Given the description of an element on the screen output the (x, y) to click on. 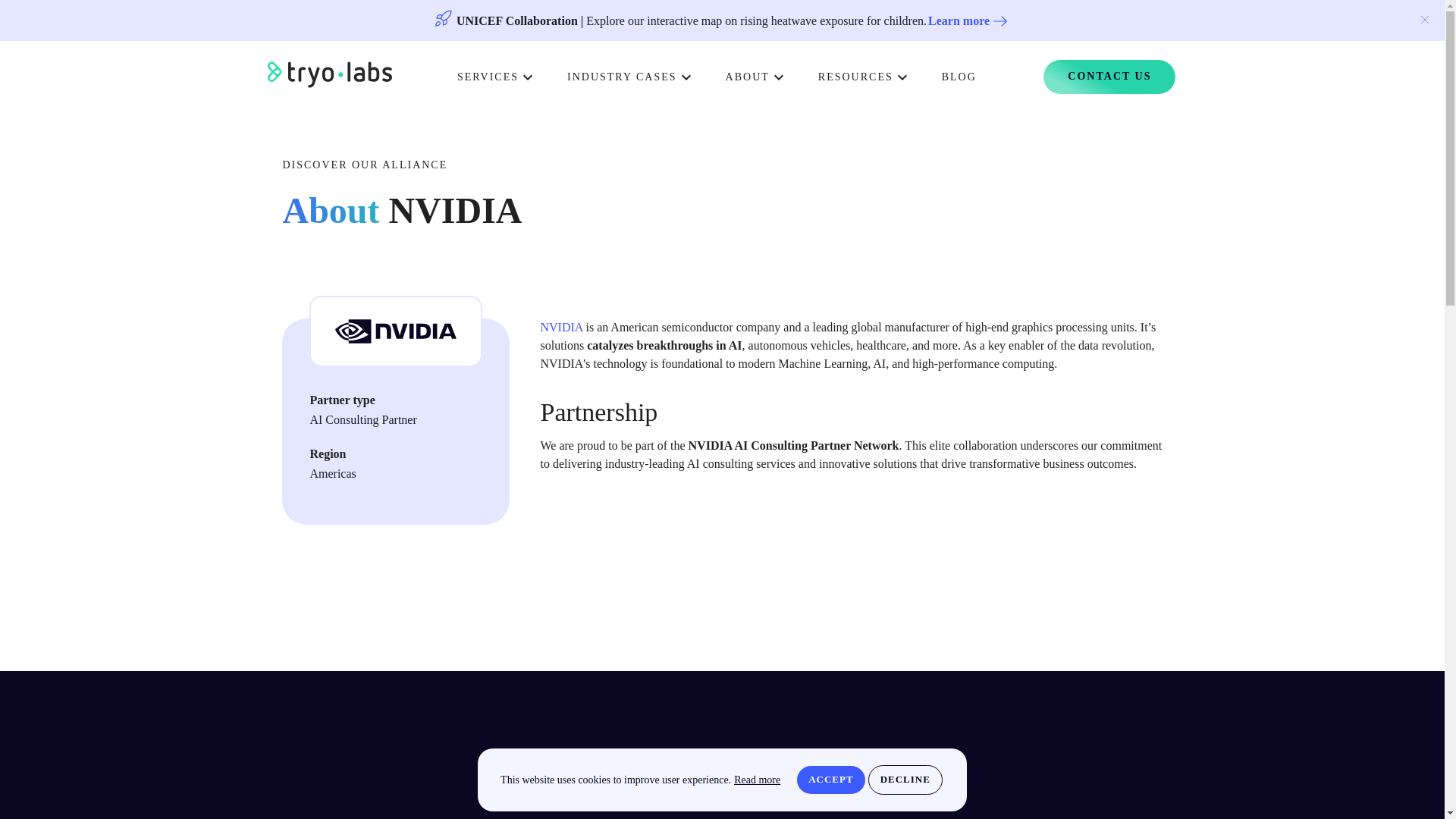
NVIDIA (561, 327)
BLOG (959, 77)
CONTACT US (1108, 76)
